Given the description of an element on the screen output the (x, y) to click on. 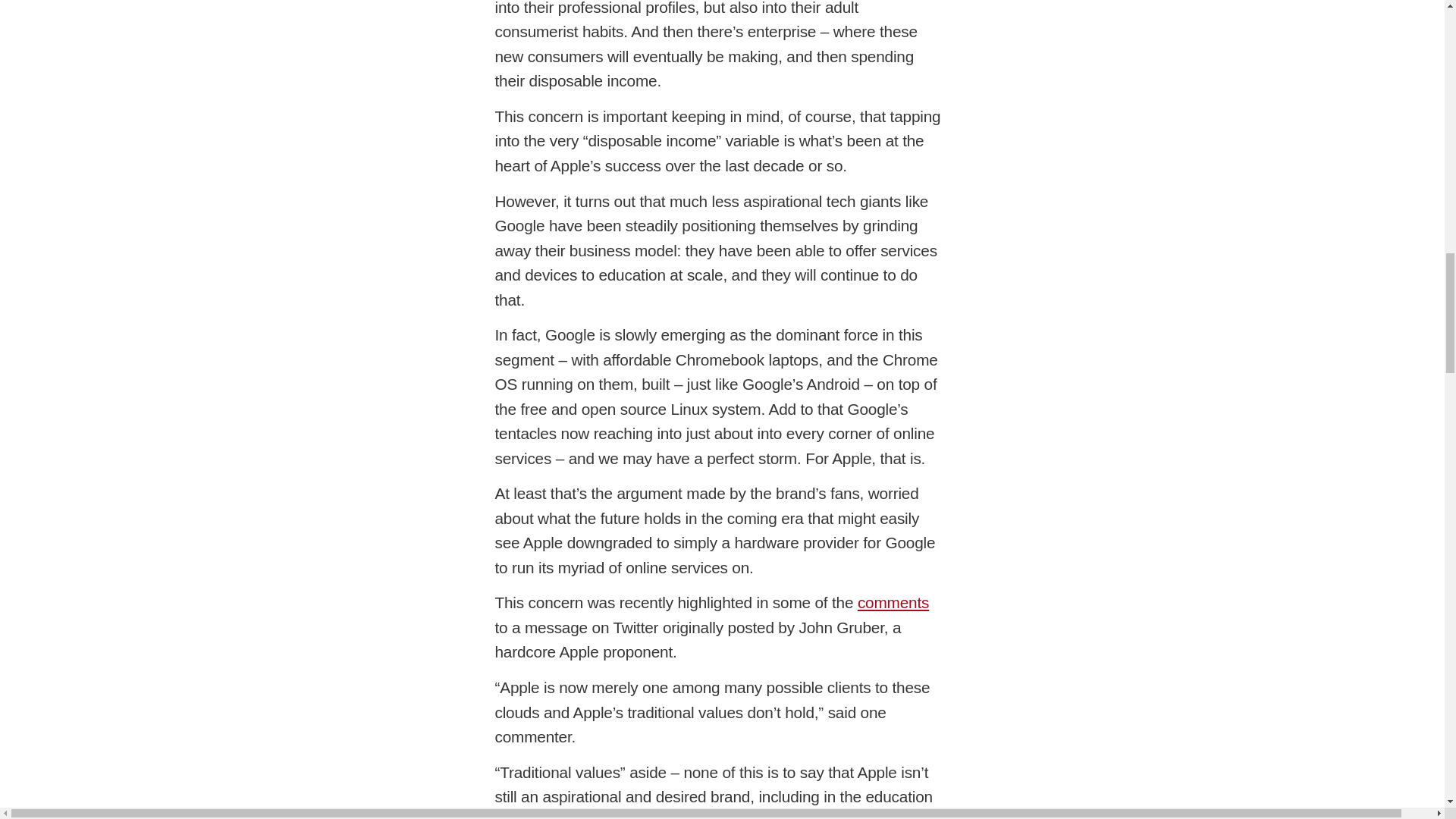
comments (892, 601)
